Given the description of an element on the screen output the (x, y) to click on. 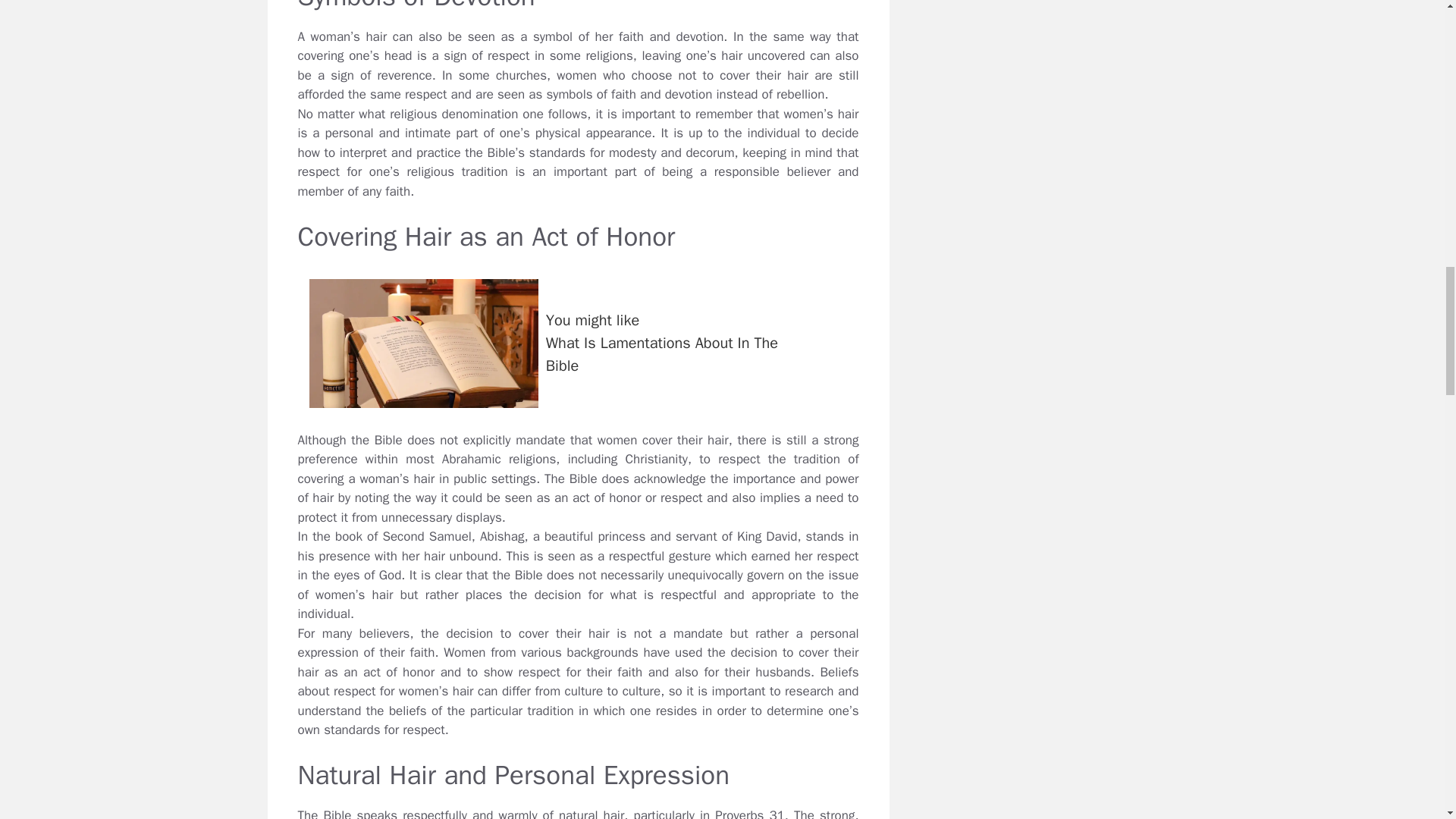
What Does The Bible Say About A Womans Hair (578, 343)
